Given the description of an element on the screen output the (x, y) to click on. 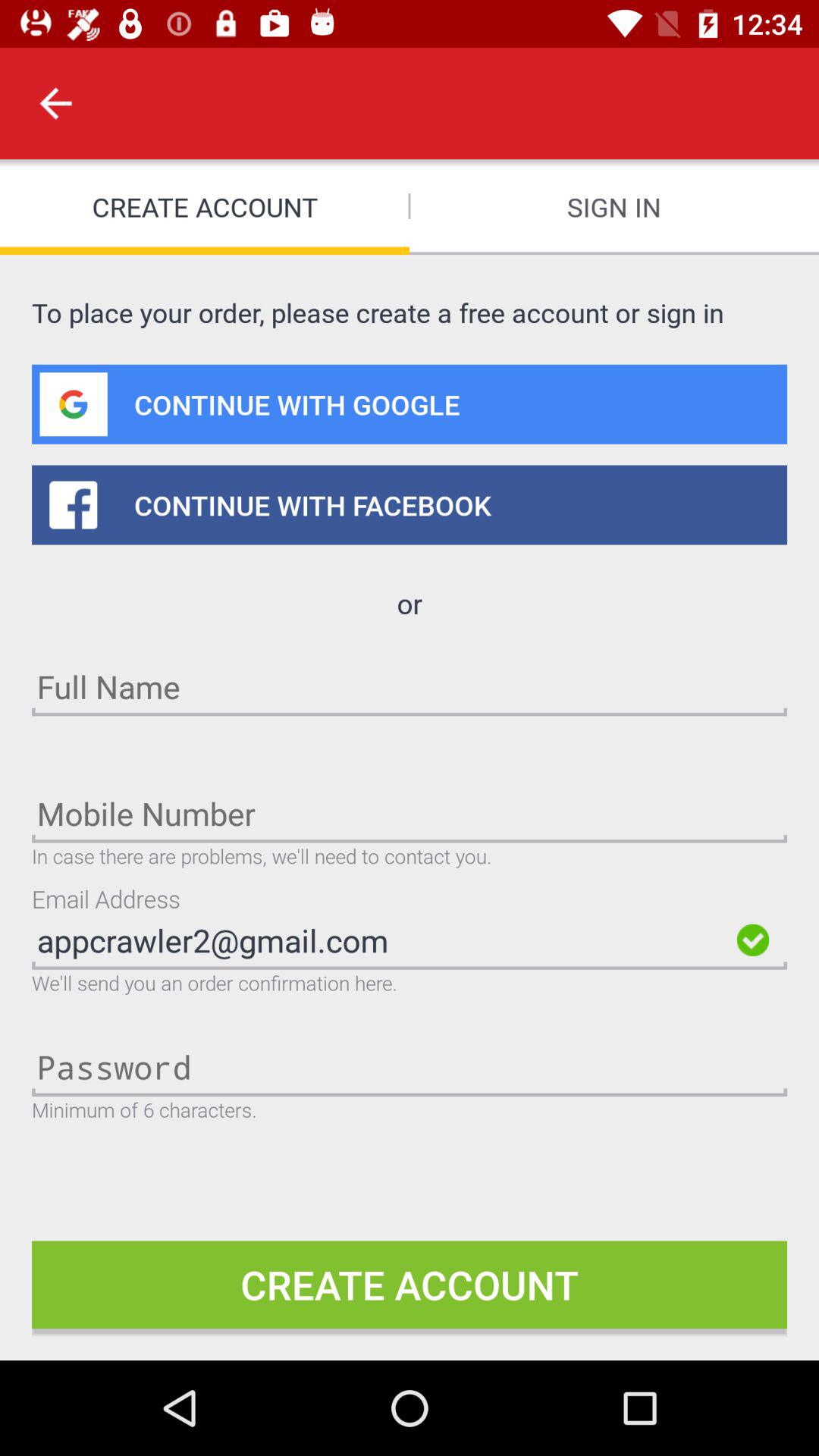
select the name (409, 686)
